Given the description of an element on the screen output the (x, y) to click on. 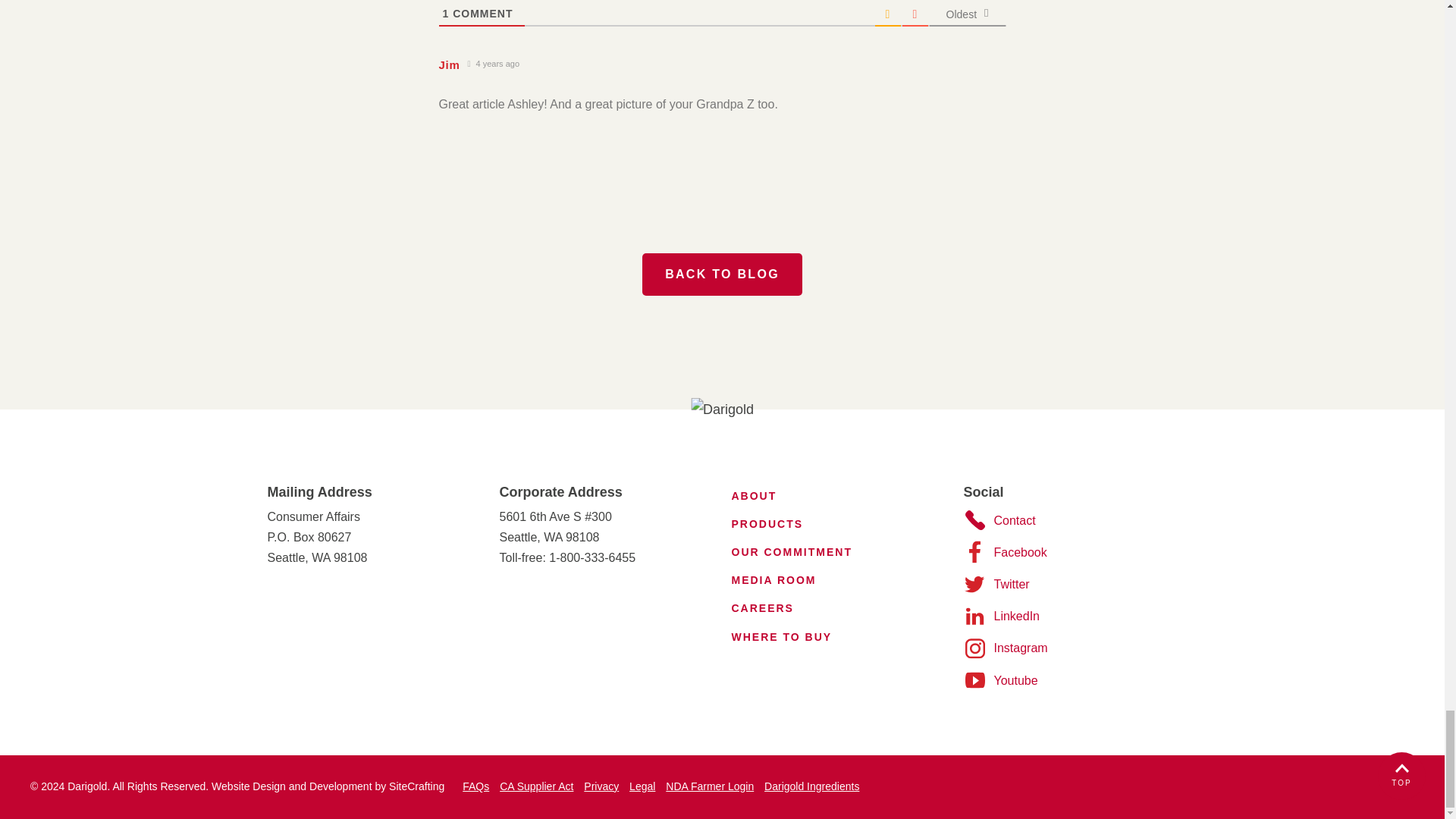
October 12, 2019 8:02 pm (492, 63)
